Given the description of an element on the screen output the (x, y) to click on. 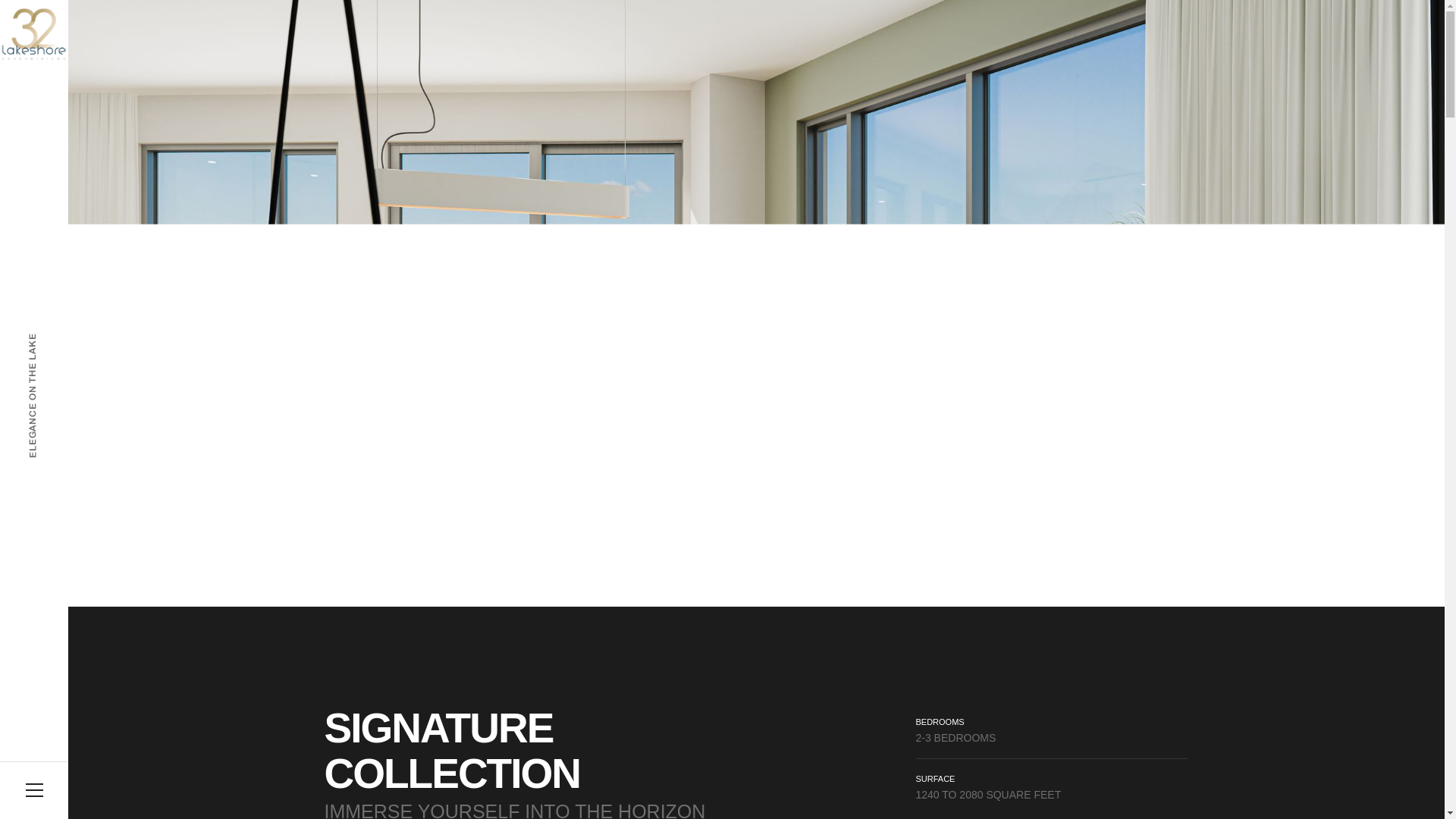
Neighbourhood (13, 397)
Contact (13, 518)
Home (13, 154)
Home (13, 214)
Home (13, 458)
Home (13, 518)
Team (13, 458)
Gallery (13, 336)
Home (13, 336)
FR (13, 579)
